Given the description of an element on the screen output the (x, y) to click on. 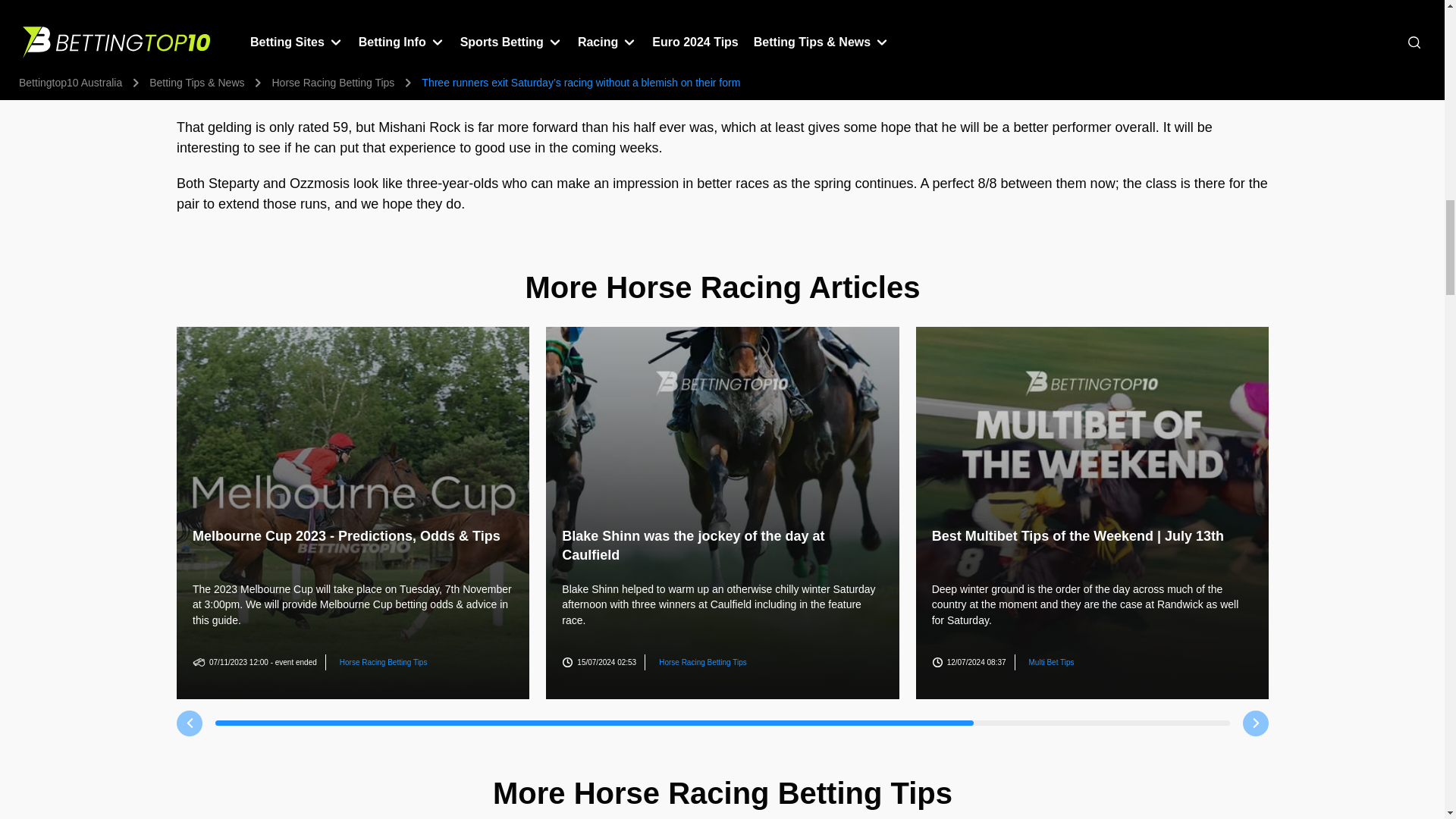
Horse-Racing-Melbourne-Cup (352, 512)
